Given the description of an element on the screen output the (x, y) to click on. 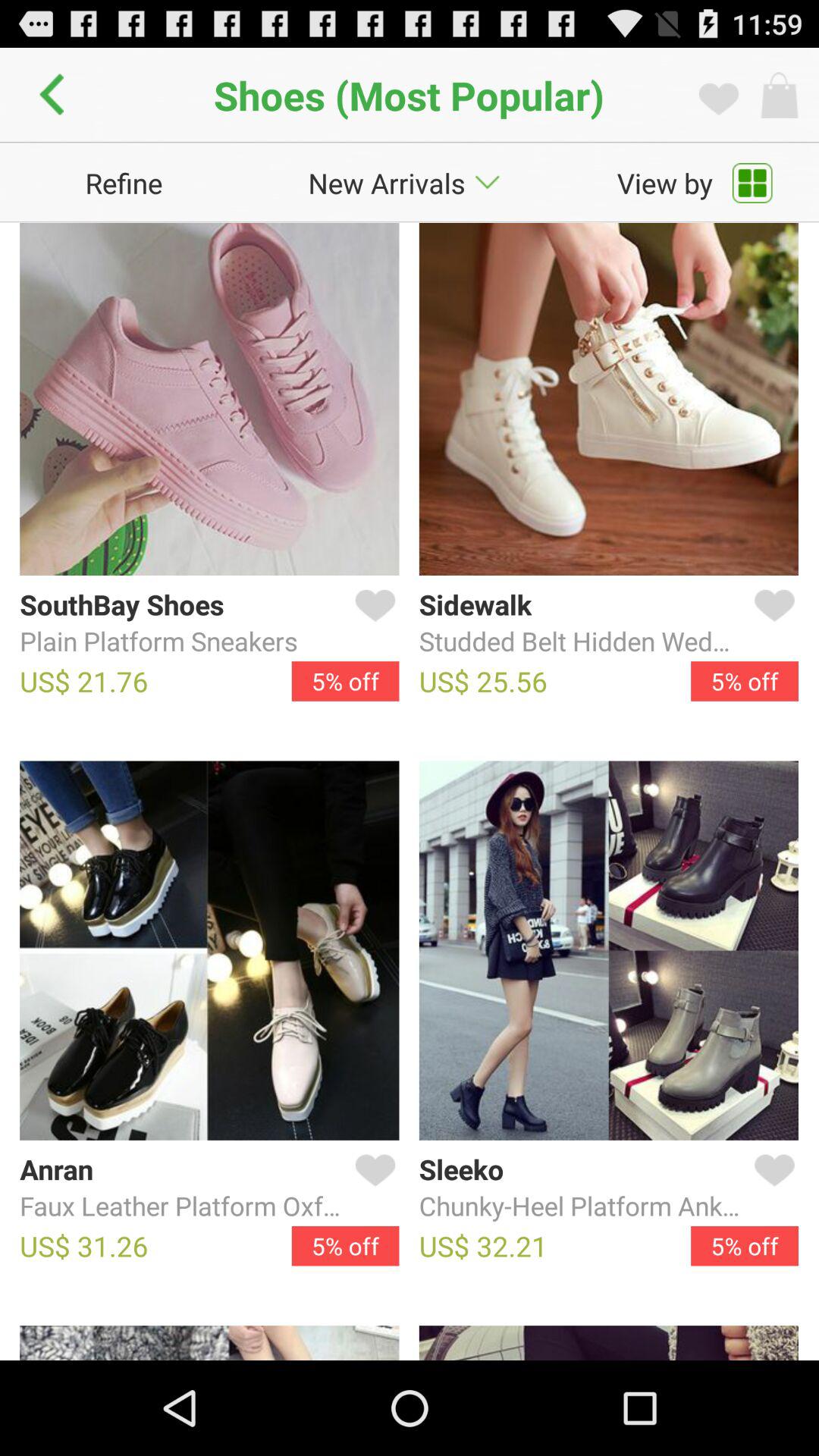
like the item (771, 623)
